Given the description of an element on the screen output the (x, y) to click on. 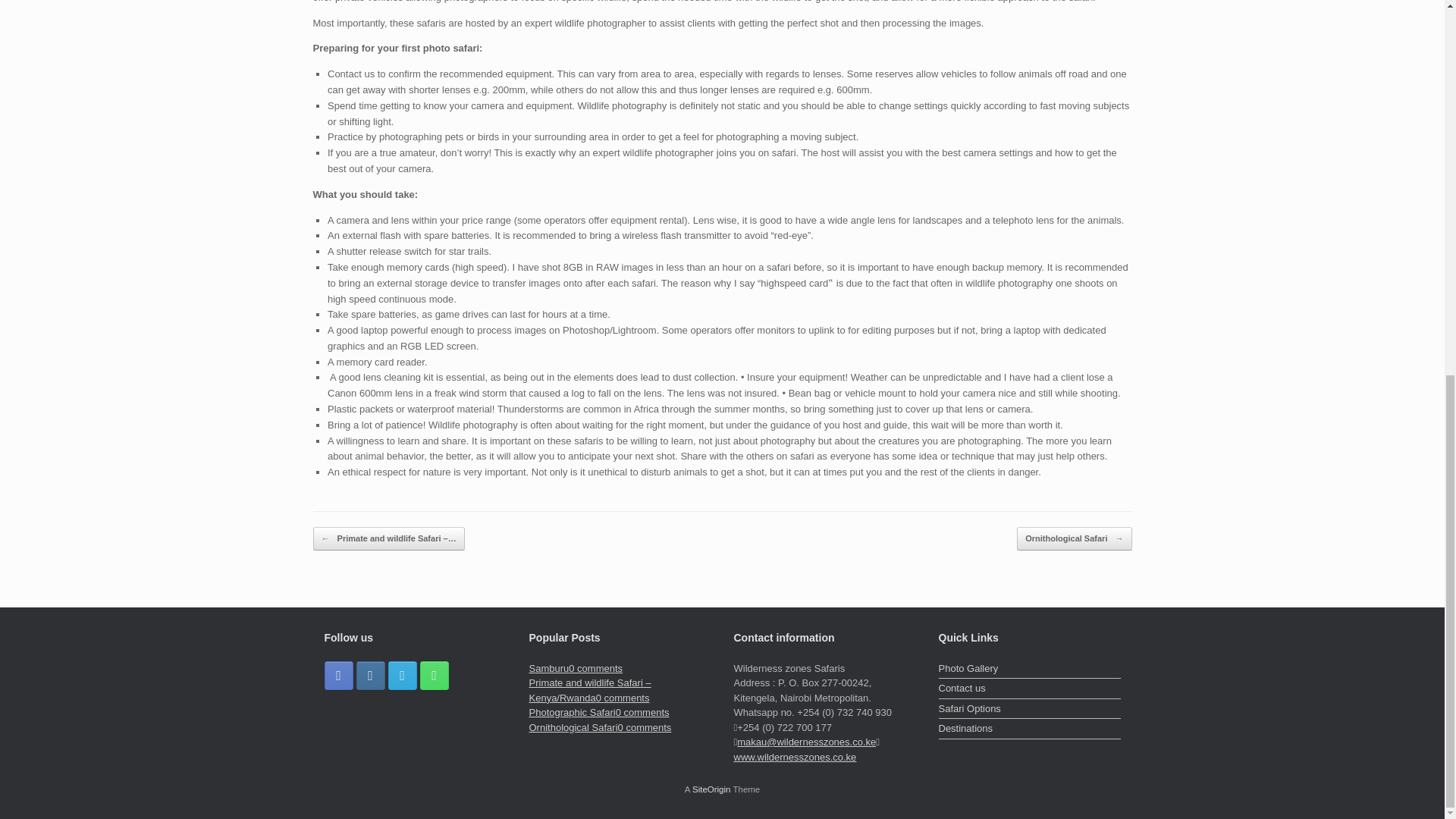
Samburu (549, 668)
0 comments (596, 668)
0 comments (644, 727)
0 comments (622, 697)
wilderness zones safaris Email (402, 675)
wilderness zones safaris Instagram (370, 675)
wilderness zones safaris Facebook (338, 675)
Photographic Safari (572, 712)
0 comments (642, 712)
0 comments (642, 712)
wilderness zones safaris Phone (434, 675)
Photographic Safari (572, 712)
0 comments (622, 697)
Ornithological Safari (573, 727)
0 comments (596, 668)
